Given the description of an element on the screen output the (x, y) to click on. 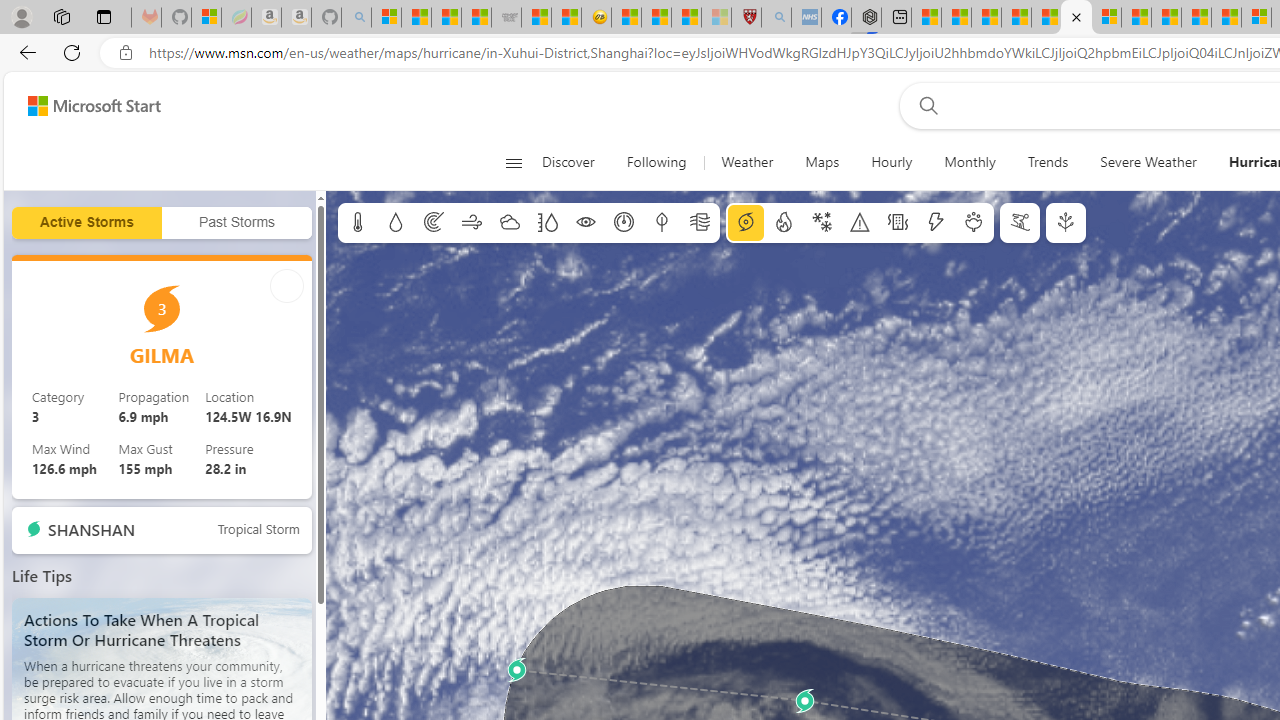
Precipitation (395, 223)
Fire information (783, 223)
E-tree (1066, 223)
Sea level pressure (623, 223)
Monthly (970, 162)
Clouds (509, 223)
Winter weather (821, 223)
Trends (1048, 162)
Past Storms (237, 223)
Lightning (935, 223)
